Given the description of an element on the screen output the (x, y) to click on. 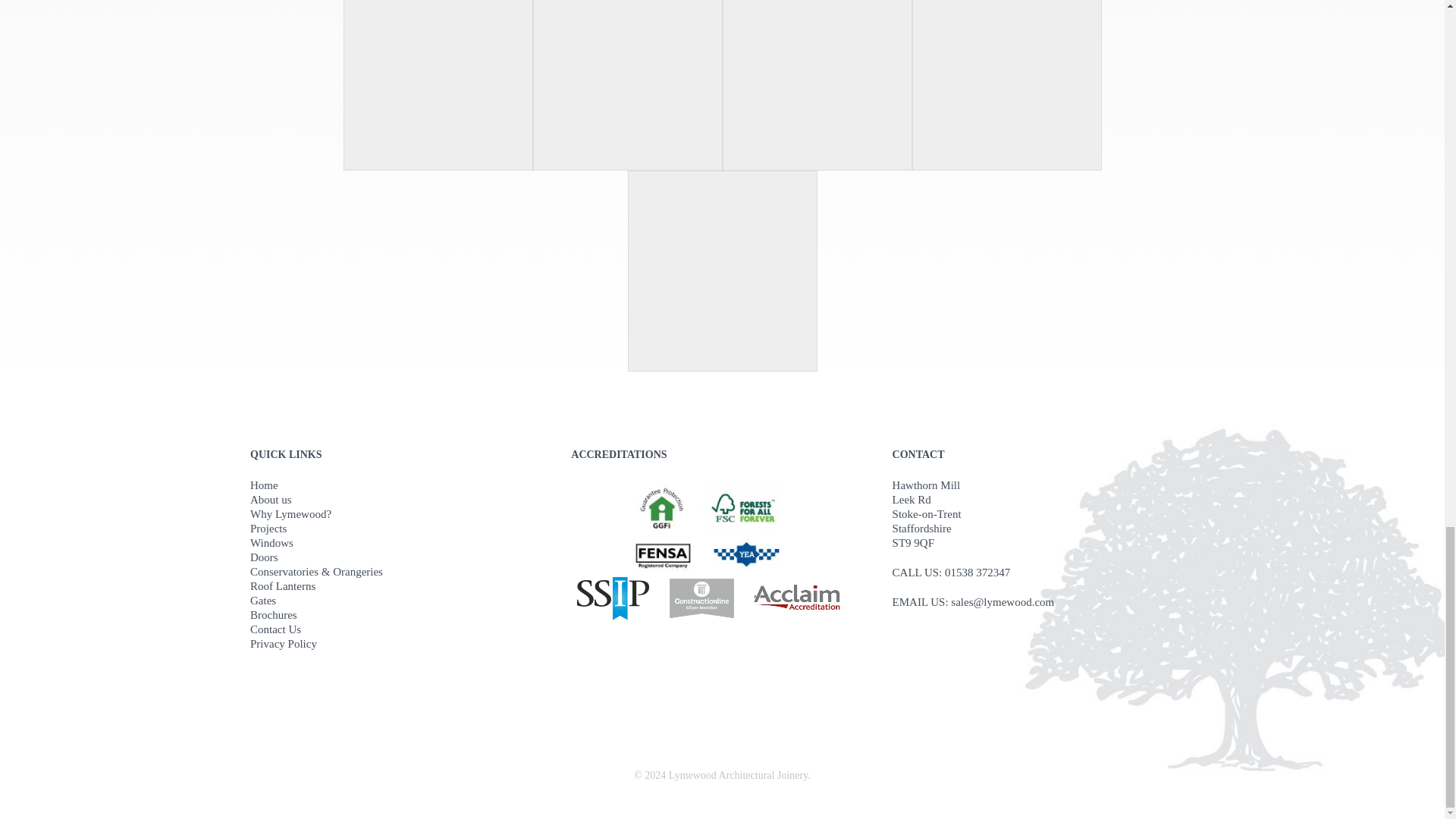
Windows (400, 543)
Why Lymewood? (400, 513)
About us (400, 499)
Roof Lanterns (400, 586)
Privacy Policy (400, 644)
Home (400, 485)
Gates (400, 600)
Contact Us (400, 629)
Brochures (400, 615)
Projects (400, 528)
Doors (400, 557)
